Given the description of an element on the screen output the (x, y) to click on. 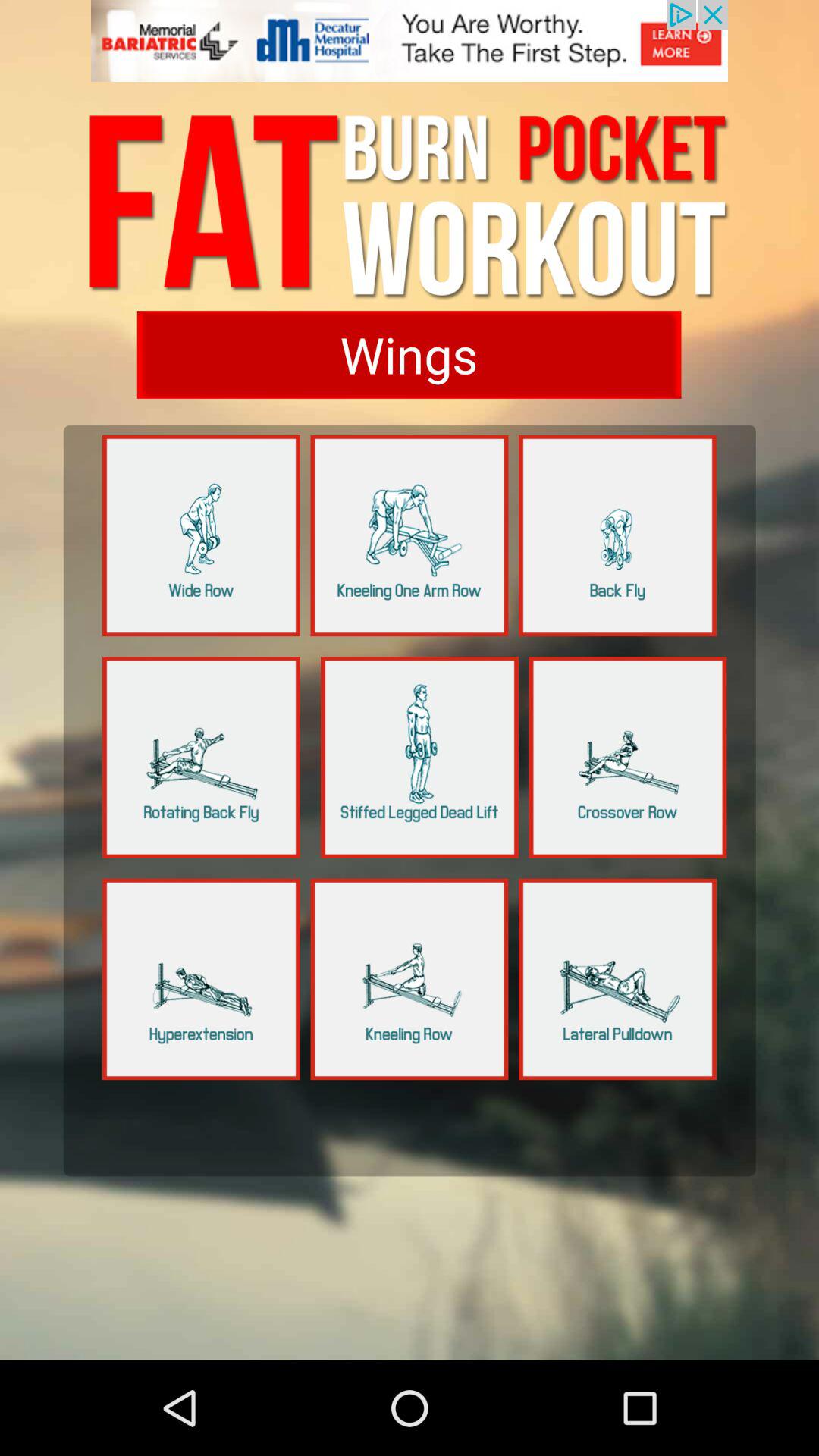
choose the option (201, 979)
